Given the description of an element on the screen output the (x, y) to click on. 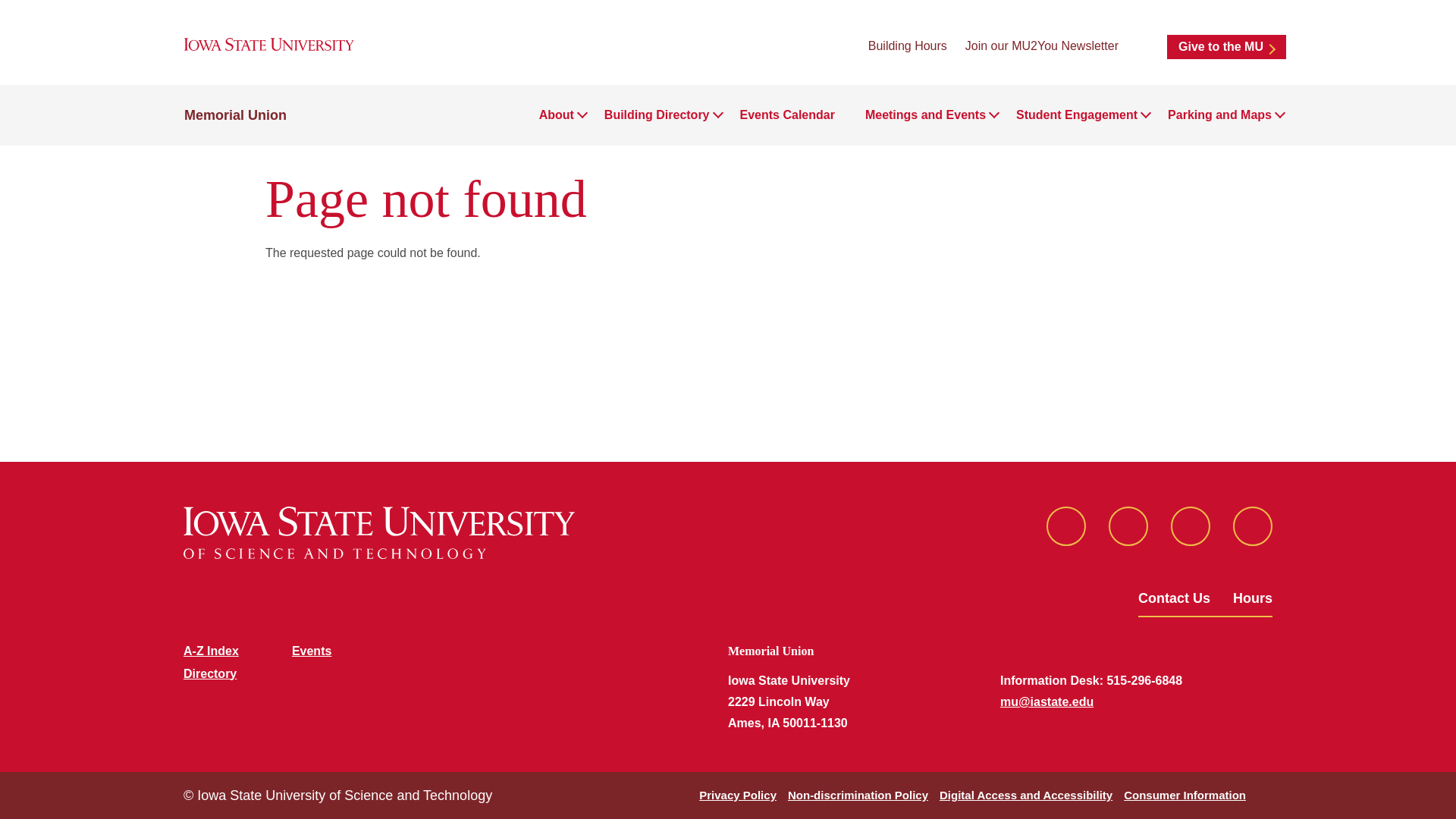
Memorial Union (235, 114)
Give to the MU (1226, 46)
Building Hours (907, 45)
Building Directory (657, 115)
Join our MU2You Newsletter (1041, 45)
Search (1142, 45)
About (555, 115)
